Given the description of an element on the screen output the (x, y) to click on. 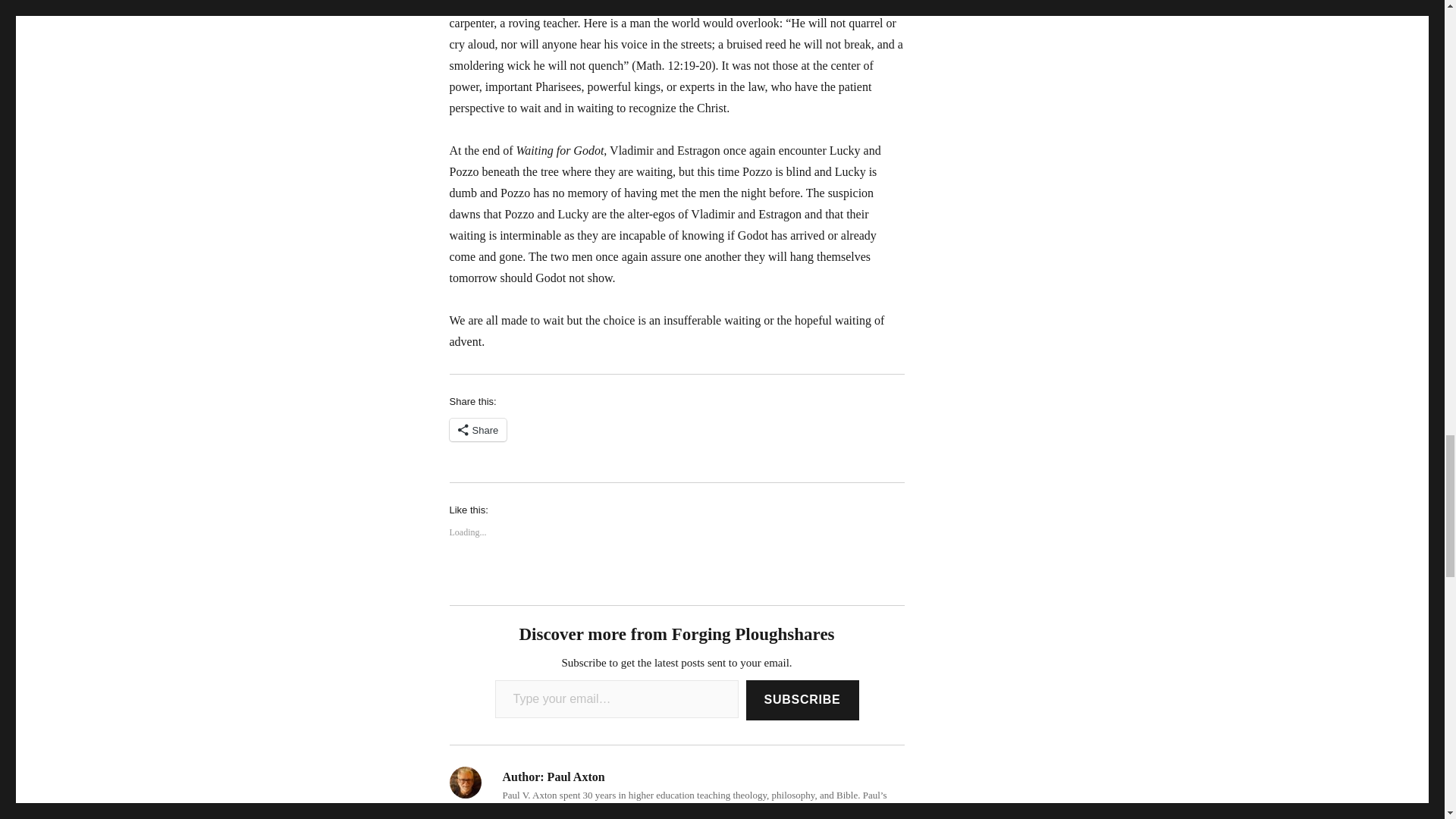
Share (477, 429)
Please fill in this field. (616, 699)
SUBSCRIBE (802, 700)
